Given the description of an element on the screen output the (x, y) to click on. 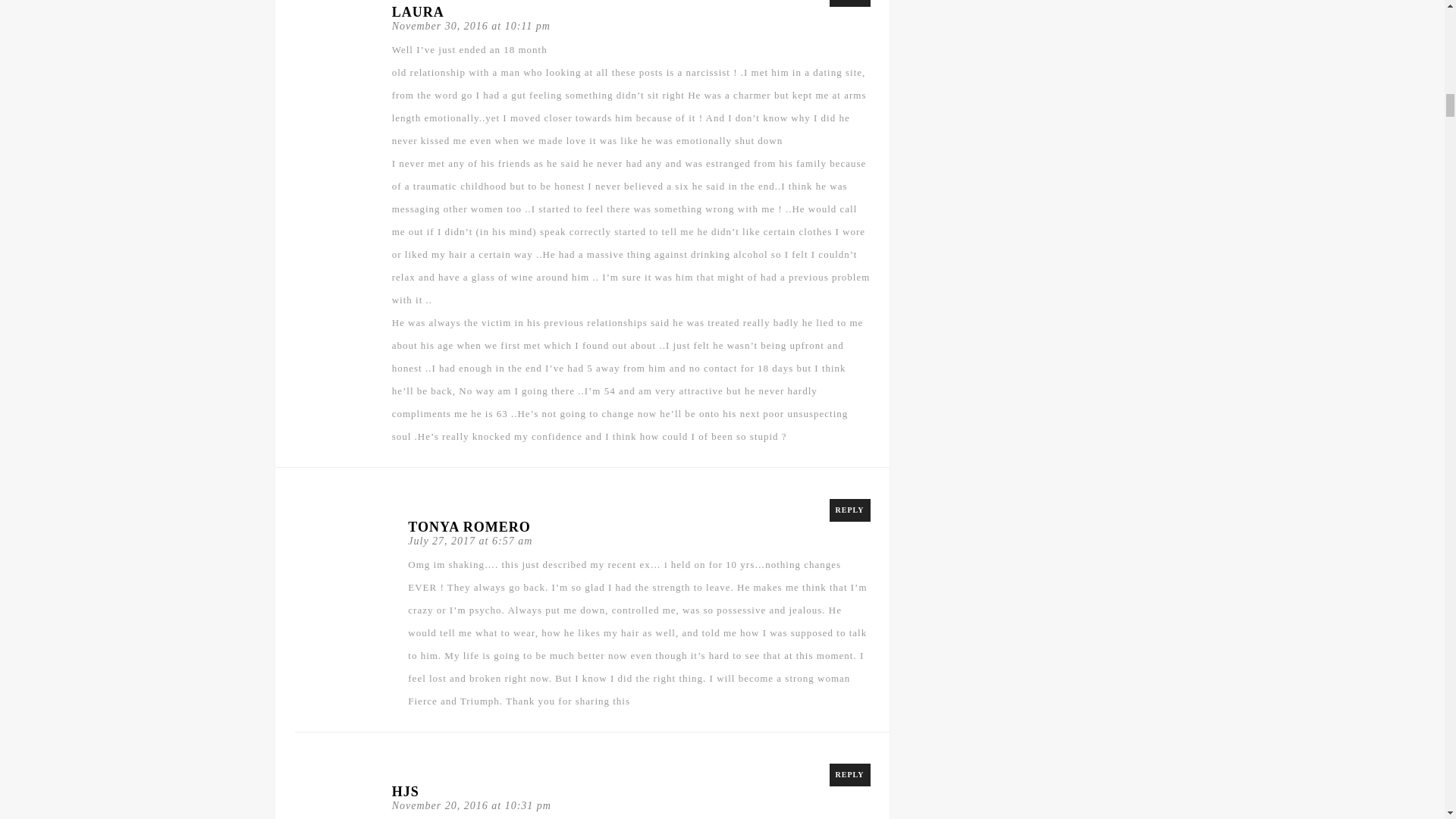
REPLY (849, 509)
REPLY (849, 774)
REPLY (849, 3)
